Given the description of an element on the screen output the (x, y) to click on. 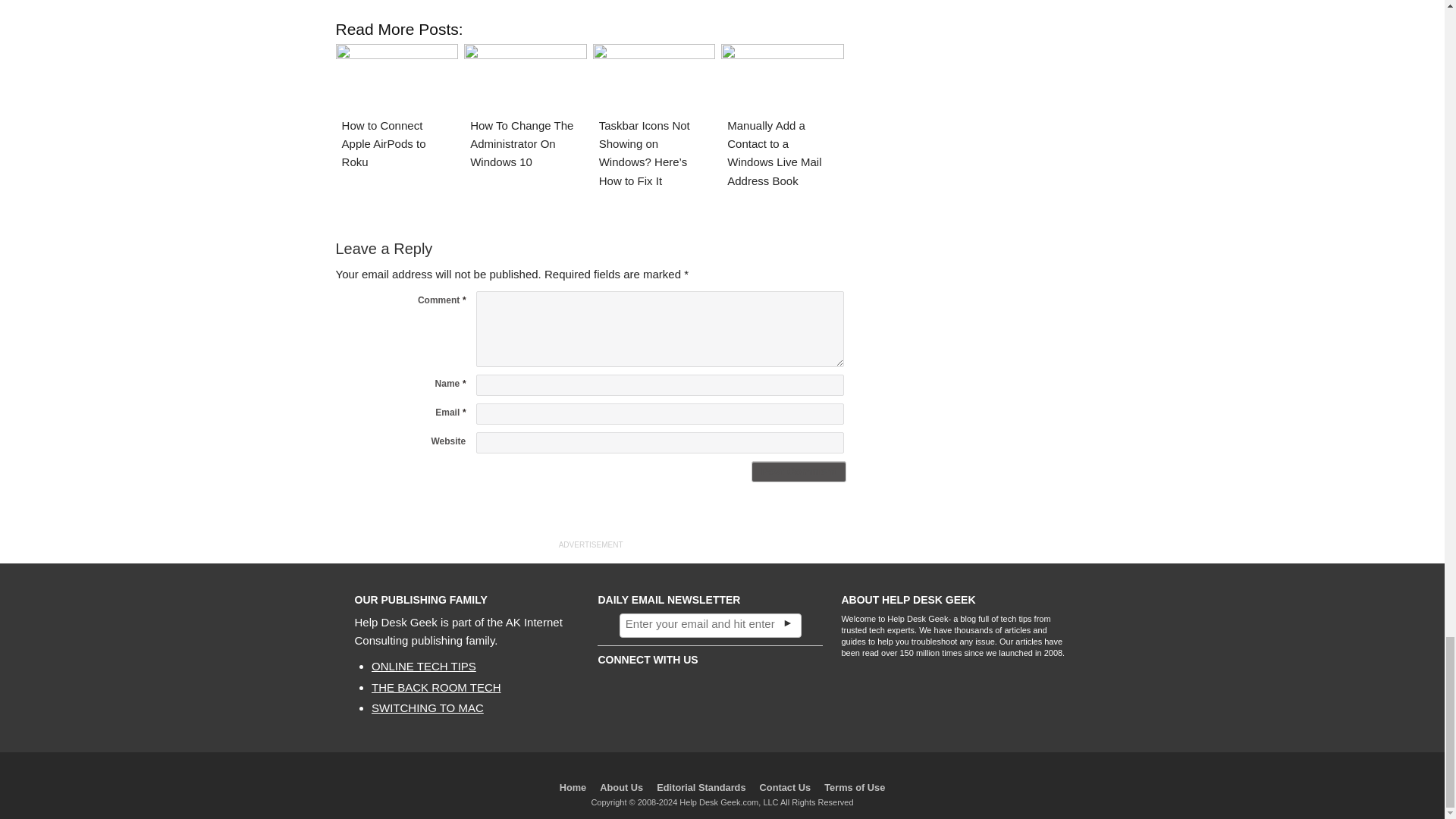
Post Comment (798, 471)
